Given the description of an element on the screen output the (x, y) to click on. 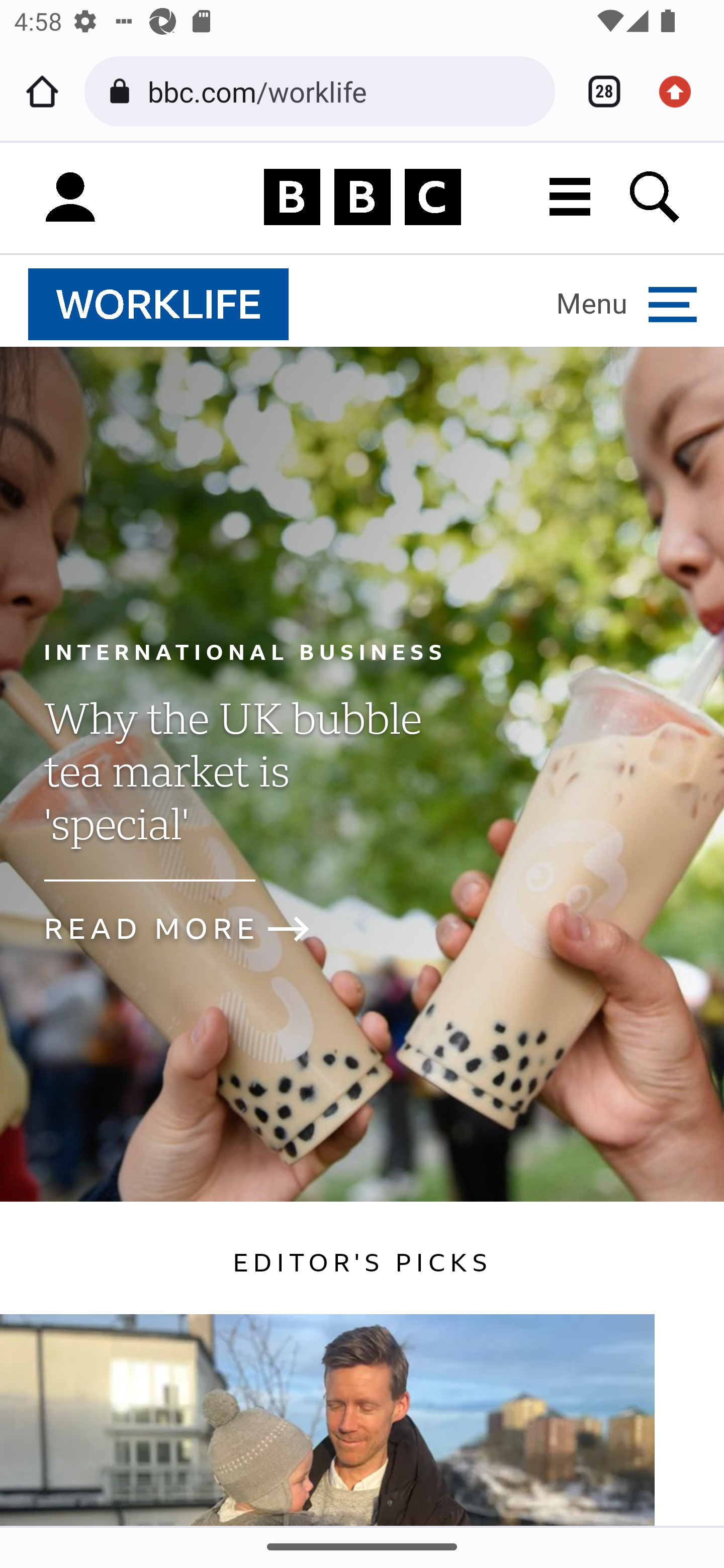
Home (42, 91)
Connection is secure (122, 91)
Switch or close tabs (597, 91)
Update available. More options (681, 91)
bbc.com/worklife (343, 90)
All BBC destinations menu (570, 197)
Search BBC (655, 197)
Sign in (70, 198)
Homepage (361, 198)
Open more navigation (627, 304)
worklife (159, 304)
INTERNATIONAL BUSINESS (244, 651)
Why the UK bubble tea market is 'special' (231, 787)
READ MORE (192, 928)
Martin Roxland with Baby Siri (327, 1419)
